Given the description of an element on the screen output the (x, y) to click on. 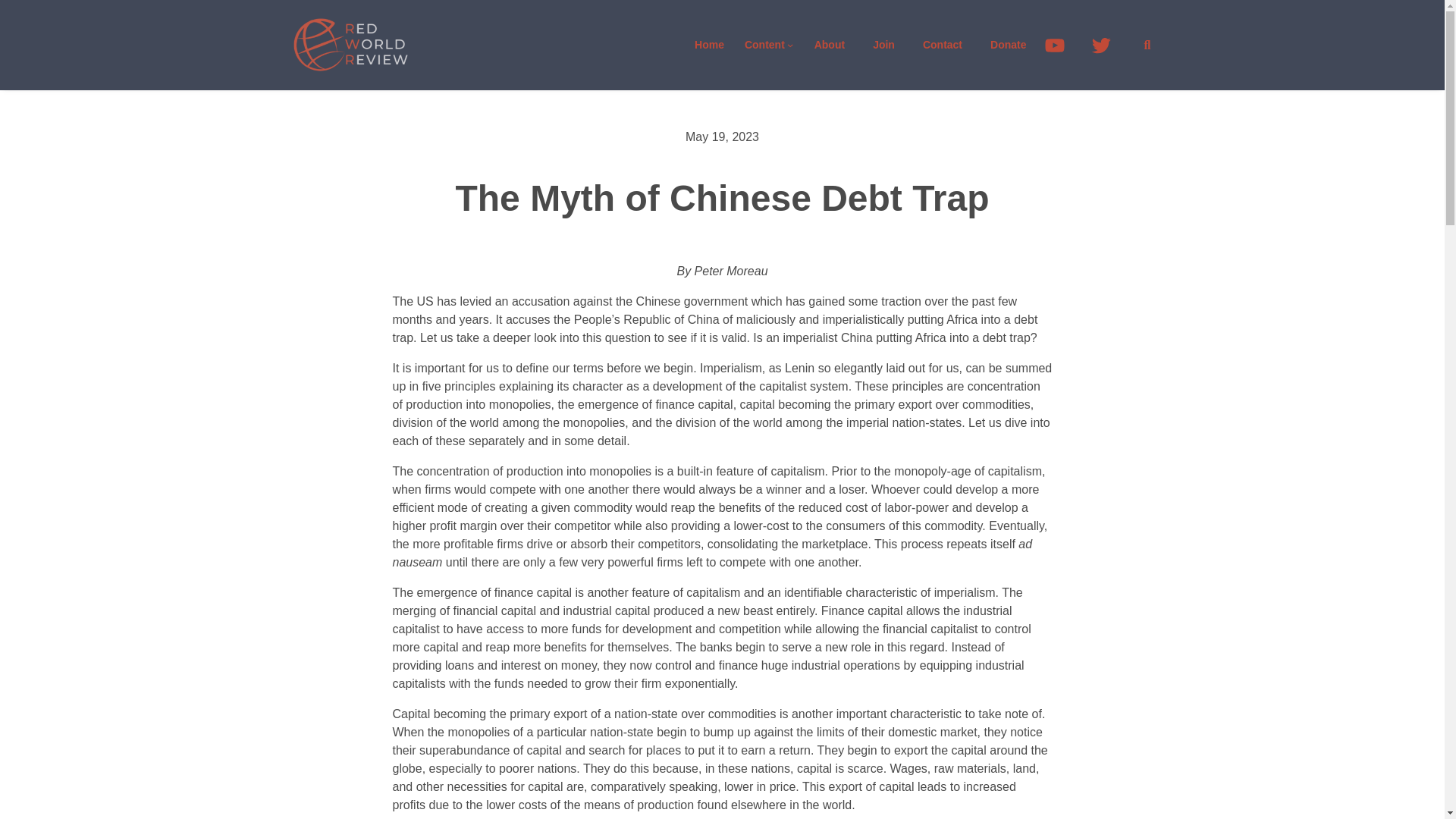
Contact (883, 44)
Home (709, 44)
YouTube (1061, 44)
Donate (1007, 44)
Contact (828, 44)
Content (764, 44)
Content (764, 44)
About (828, 44)
Home (709, 44)
Donate (1007, 44)
Contact (942, 44)
Join (883, 44)
Twitter (1107, 44)
Contact (942, 44)
